Given the description of an element on the screen output the (x, y) to click on. 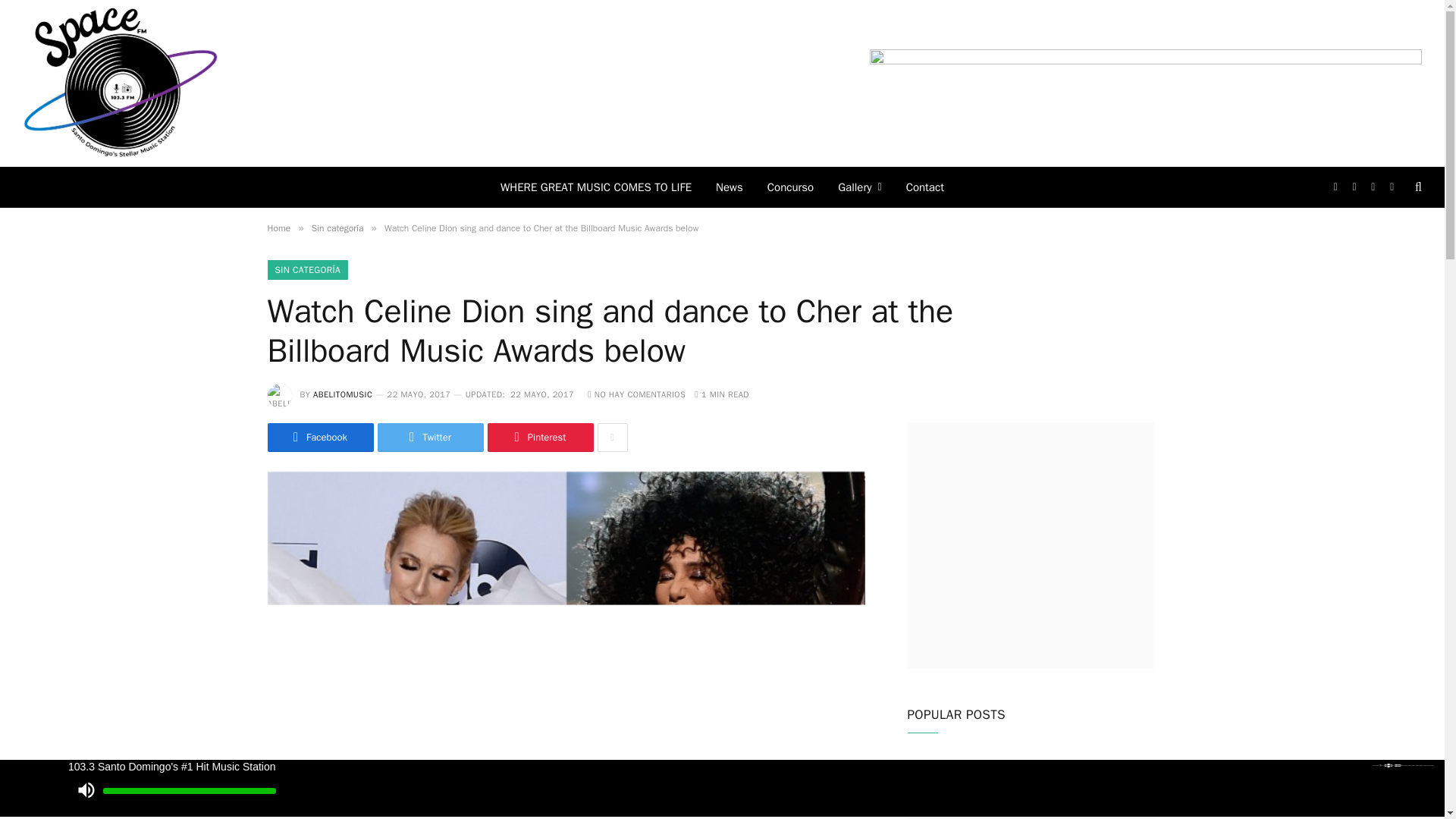
ABELITOMUSIC (342, 394)
WHERE GREAT MUSIC COMES TO LIFE (595, 187)
Gallery (859, 187)
Show More Social Sharing (611, 437)
Home (277, 227)
Twitter (430, 437)
Concurso (790, 187)
NO HAY COMENTARIOS (636, 394)
Share on Facebook (319, 437)
Contact (924, 187)
